Given the description of an element on the screen output the (x, y) to click on. 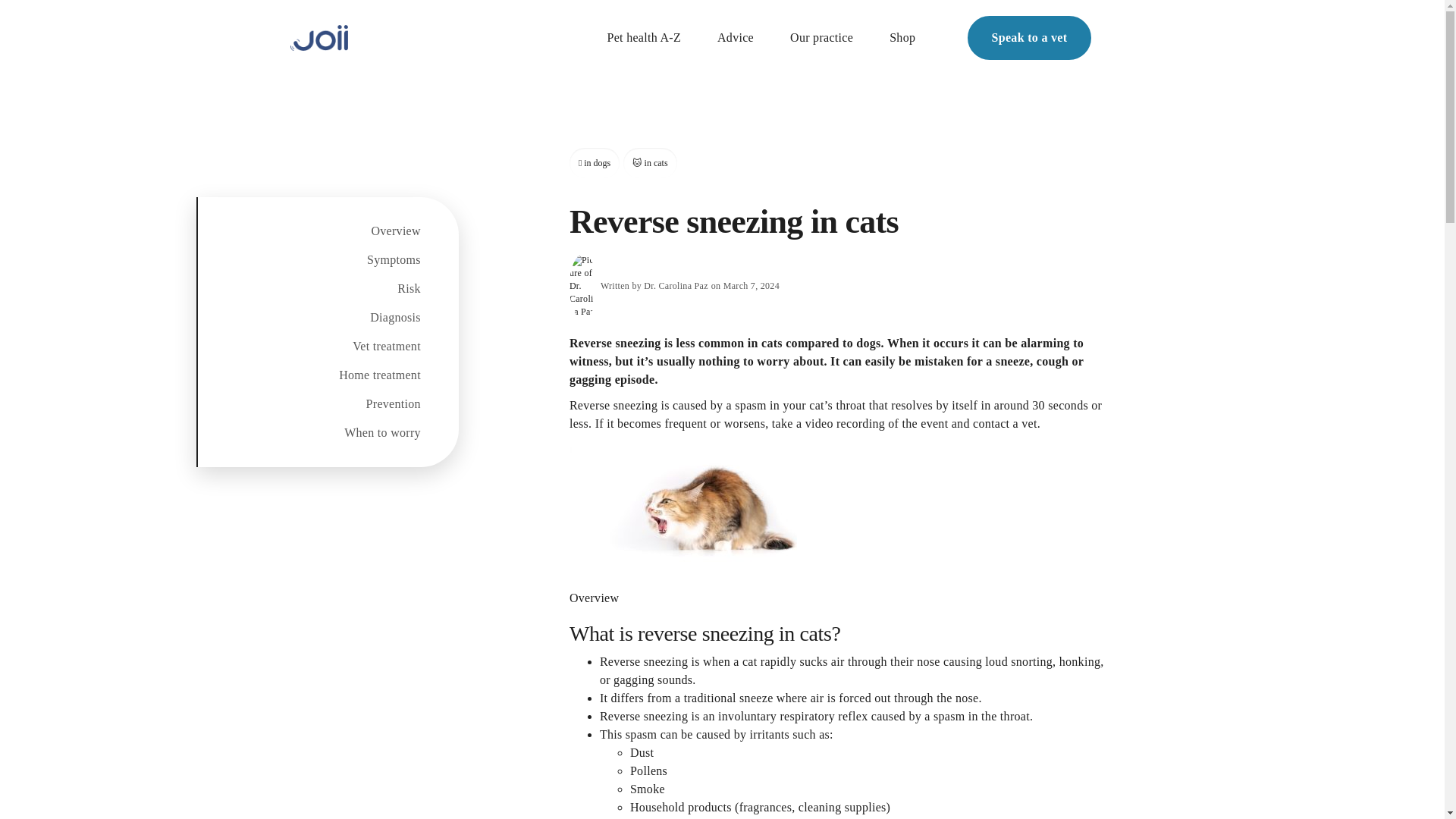
Symptoms (308, 259)
Vet treatment (308, 346)
Home treatment (308, 375)
Pet health A-Z (644, 37)
Diagnosis (308, 317)
When to worry (308, 432)
Shop (902, 37)
Overview (308, 231)
Advice (735, 37)
Speak to a vet (1030, 37)
